Given the description of an element on the screen output the (x, y) to click on. 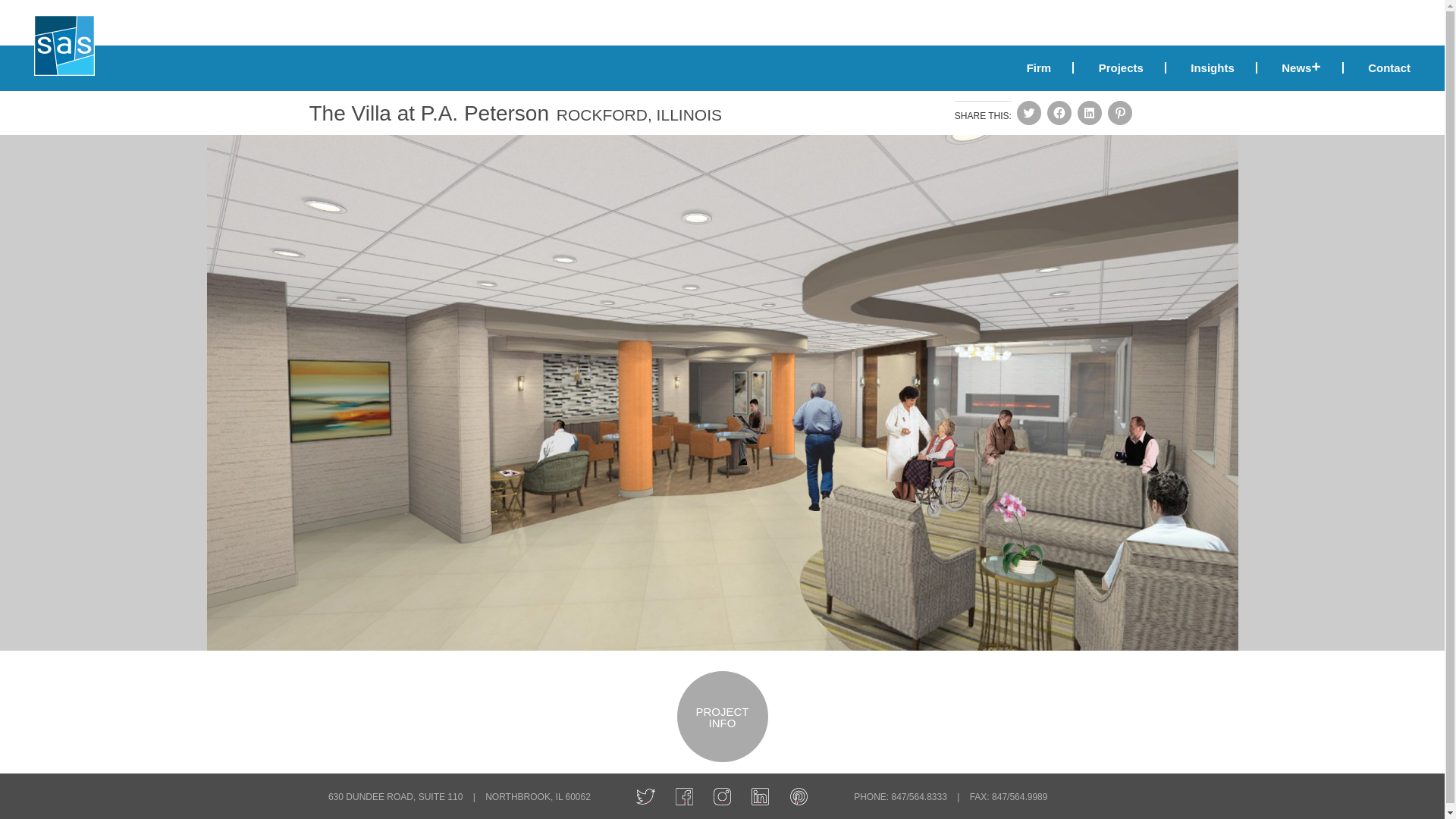
Click to share on Pinterest (1120, 112)
Contact (1378, 67)
SAS Architects and Planners, LLC on LinkedIn (760, 797)
Projects (1121, 67)
News (1301, 67)
Insights (1213, 67)
Click to share on LinkedIn (1089, 112)
PROJECT INFO (722, 692)
Click to share on Facebook (1058, 112)
